Given the description of an element on the screen output the (x, y) to click on. 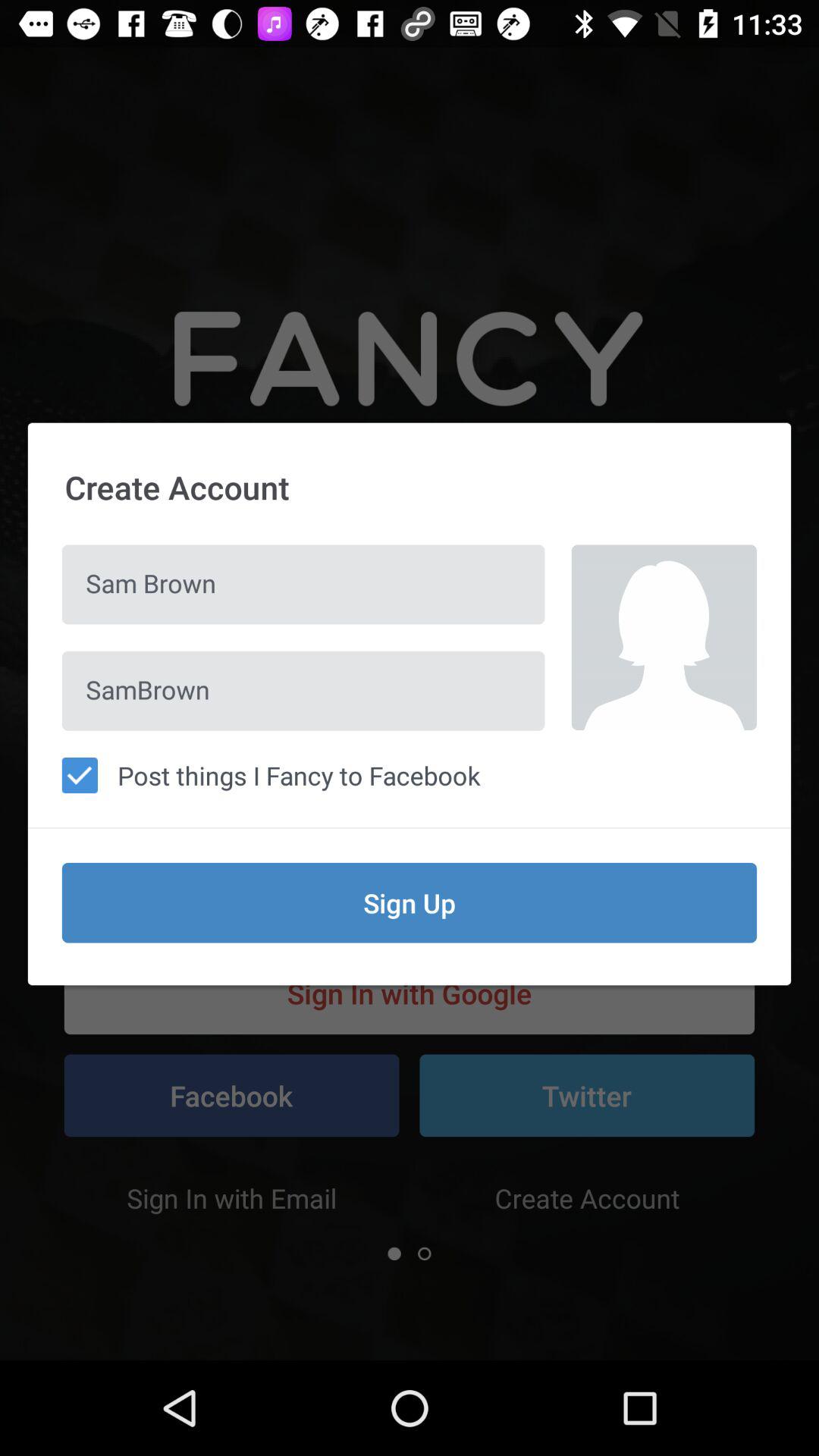
jump until the sam brown icon (302, 584)
